Given the description of an element on the screen output the (x, y) to click on. 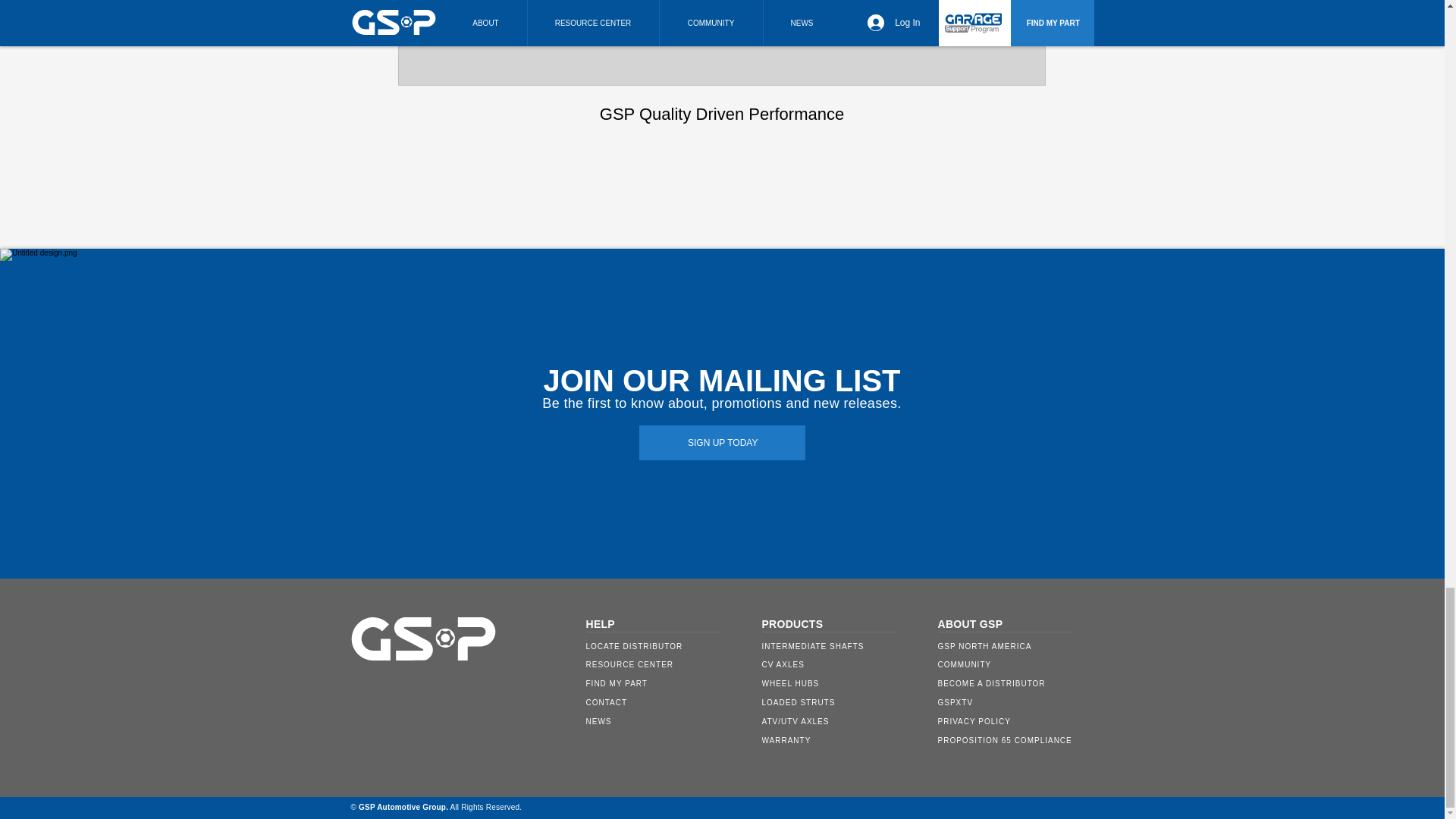
BECOME A DISTRIBUTOR (1015, 683)
FIND MY PART (663, 683)
CONTACT (663, 701)
INTERMEDIATE SHAFTS (839, 646)
RESOURCE CENTER (663, 664)
CV AXLES (839, 664)
COMMUNITY (1015, 664)
PRIVACY POLICY (1015, 721)
GSPXTV (1015, 701)
LOCATE DISTRIBUTOR (663, 646)
PROPOSITION 65 COMPLIANCE (721, 65)
LOADED STRUTS (1015, 740)
NEWS (839, 701)
WARRANTY (663, 721)
